Given the description of an element on the screen output the (x, y) to click on. 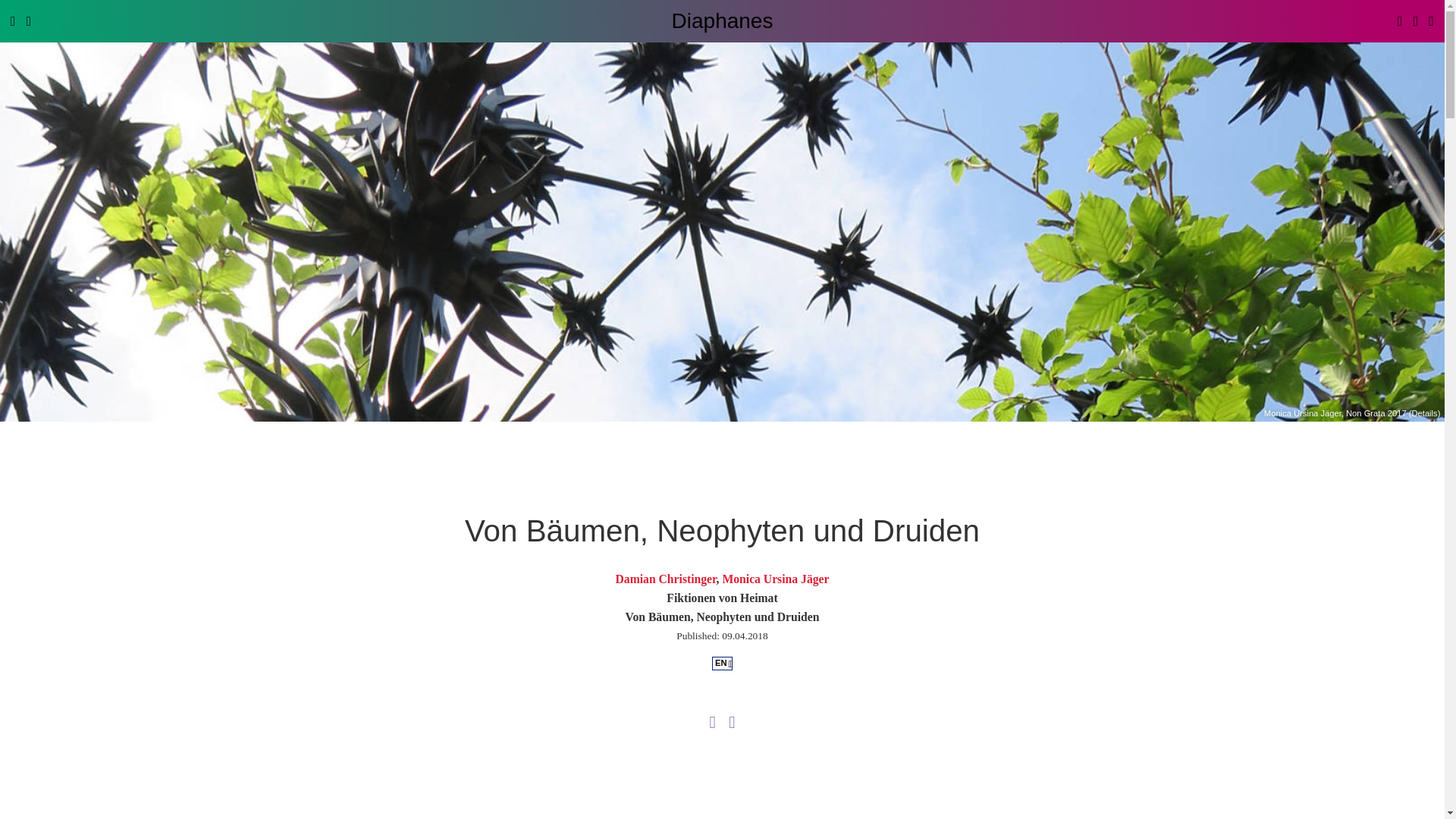
Diaphanes (722, 20)
This text is also available in English. (721, 663)
